Given the description of an element on the screen output the (x, y) to click on. 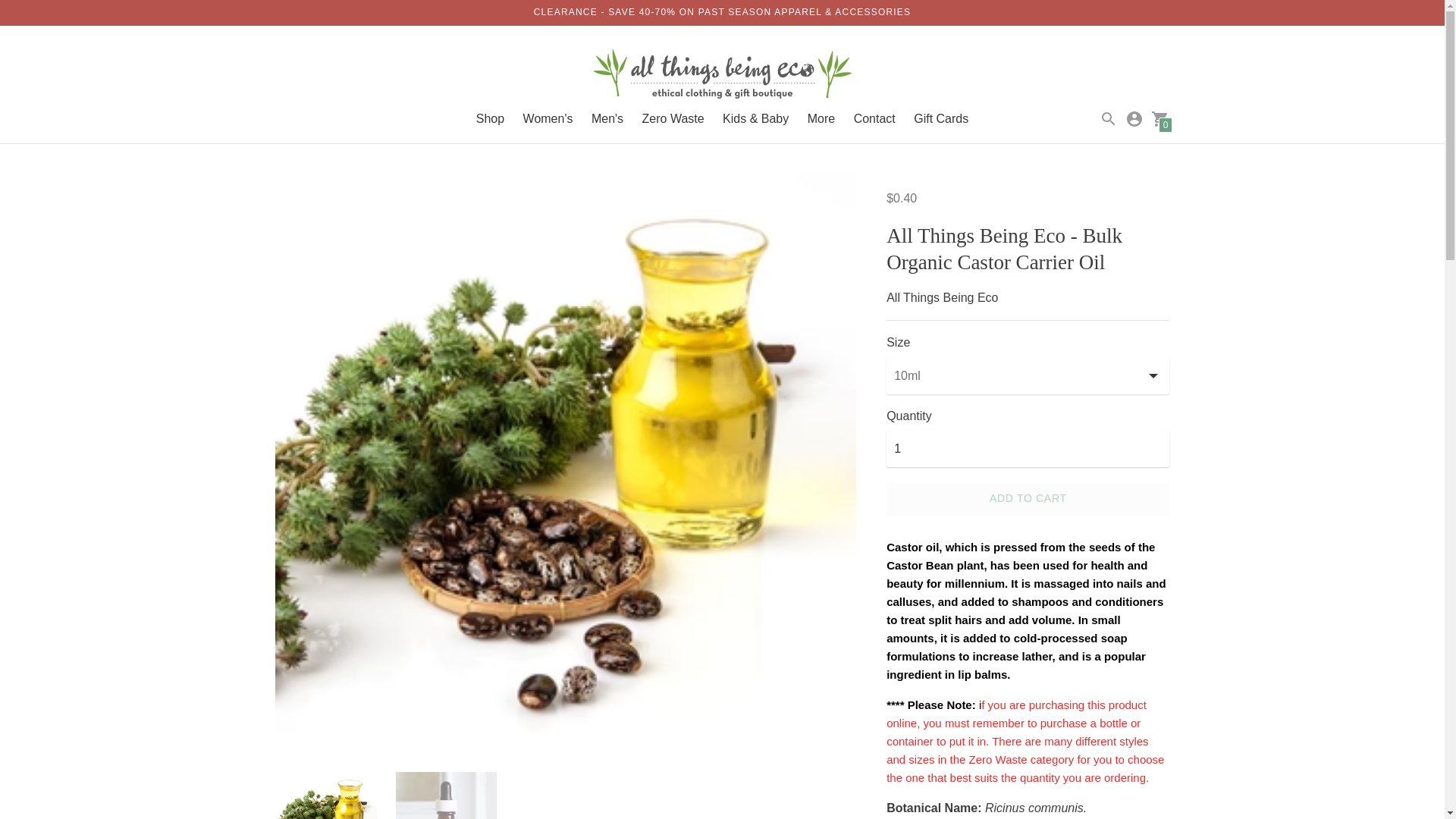
Women's (547, 118)
1 (1027, 448)
Shop (489, 118)
